Given the description of an element on the screen output the (x, y) to click on. 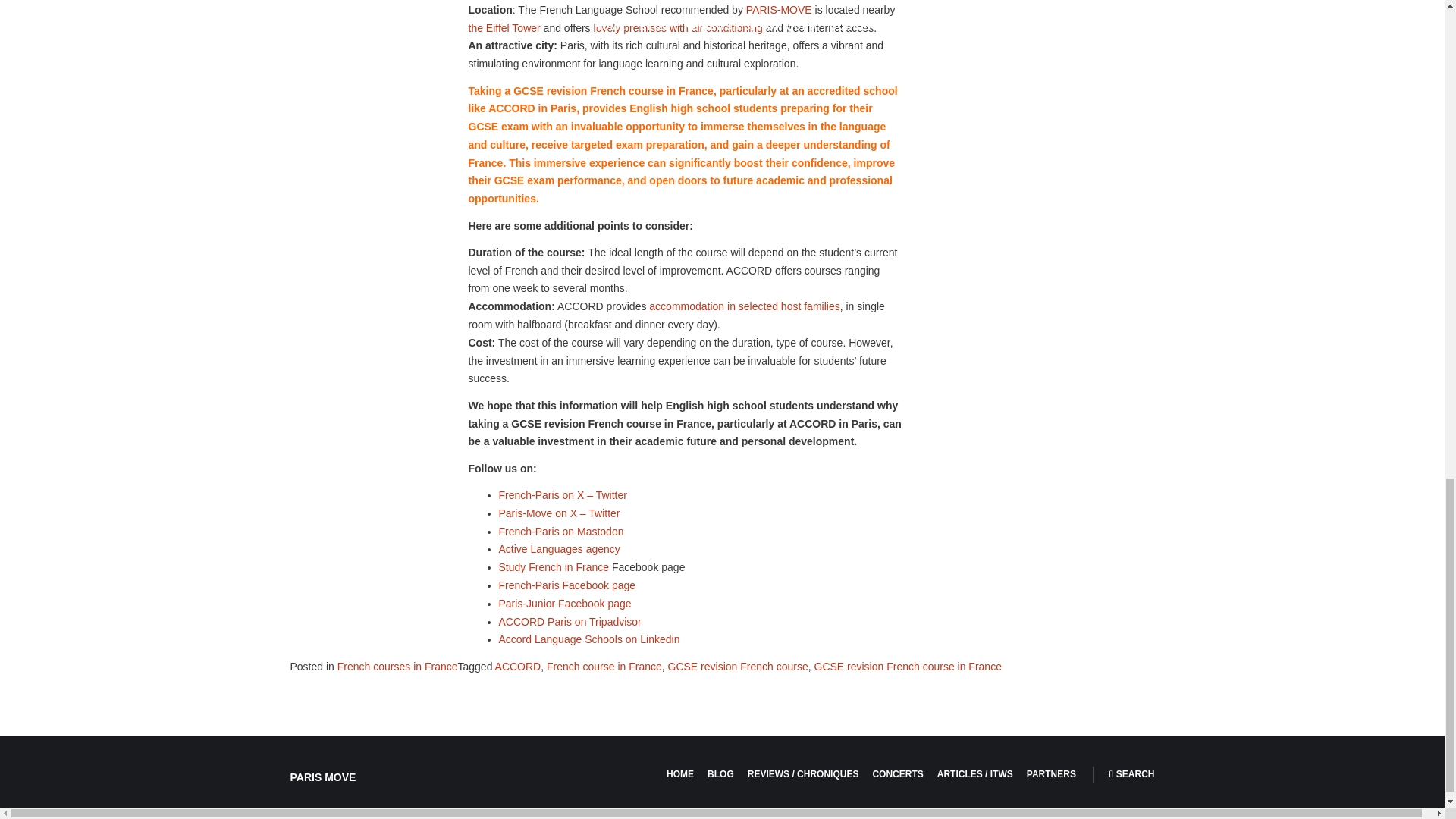
CONCERTS (897, 774)
French course in France (604, 666)
Paris Move (322, 776)
Active Languages agency (559, 548)
PARIS-MOVE (778, 9)
GCSE revision French course in France (907, 666)
GCSE revision French course (738, 666)
French courses in France (397, 666)
Study French in France (554, 567)
French-Paris Facebook page (567, 585)
